Given the description of an element on the screen output the (x, y) to click on. 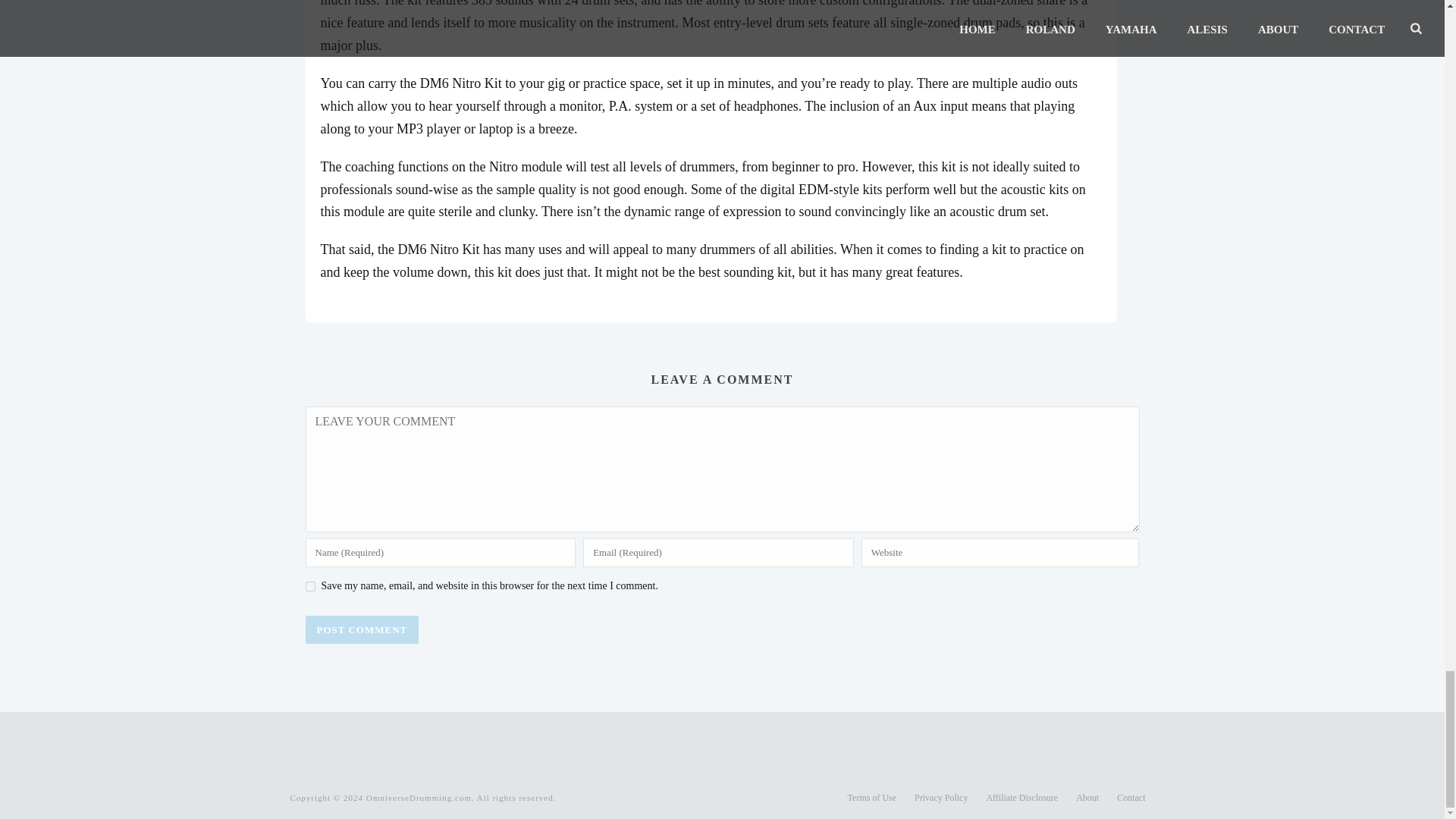
POST COMMENT (361, 629)
yes (309, 586)
POST COMMENT (361, 629)
Privacy Policy (941, 797)
Affiliate Disclosure (1021, 797)
Contact (1130, 797)
About (1087, 797)
Terms of Use (871, 797)
